Given the description of an element on the screen output the (x, y) to click on. 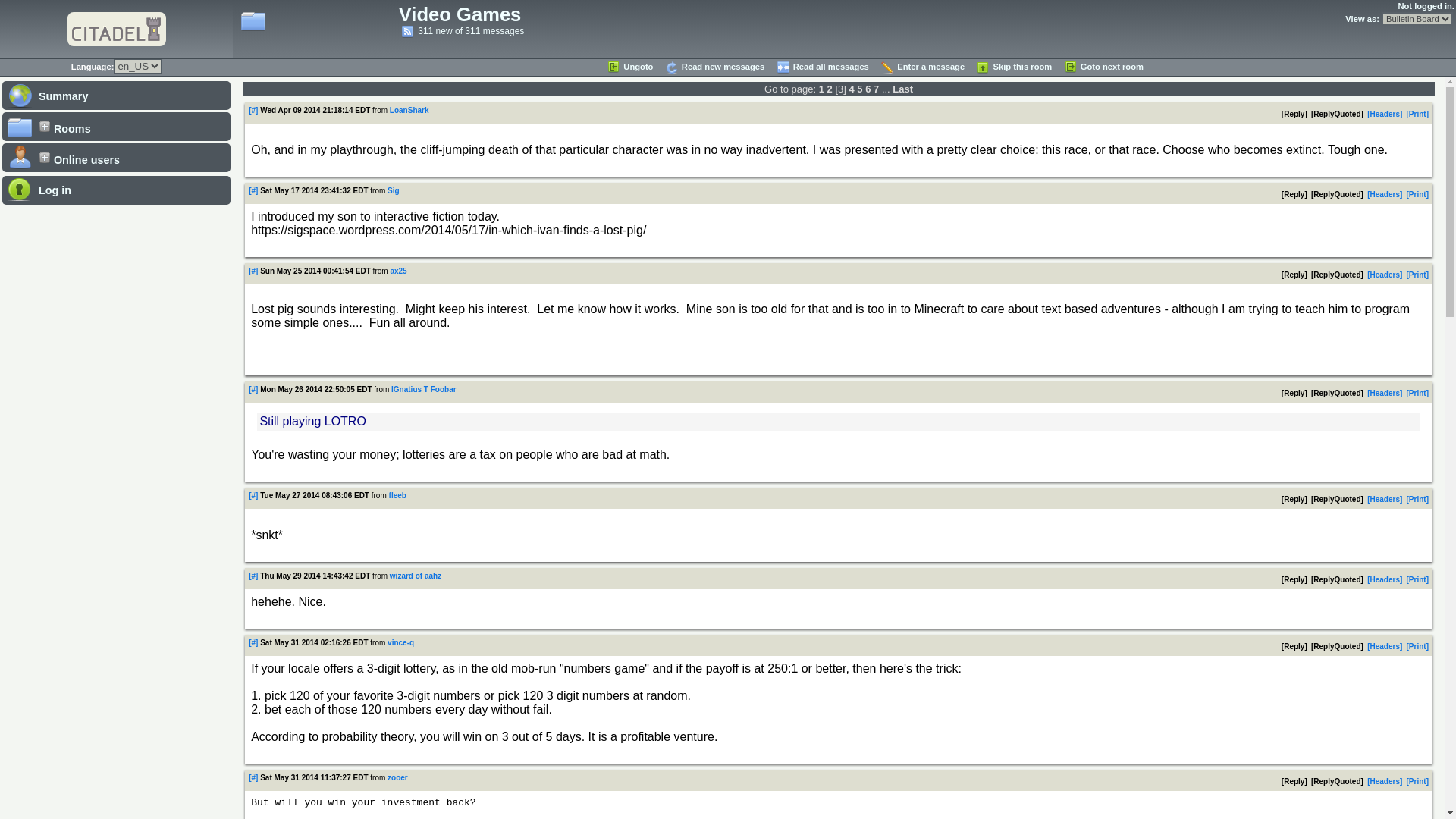
See who is online right now (116, 157)
Read new messages (714, 67)
Goto next room (1102, 67)
Online users (116, 157)
Last (902, 89)
LoanShark (409, 110)
Enter a message (922, 67)
Log in (116, 189)
Video Games (459, 13)
Ungoto (630, 67)
Sig (392, 190)
List all your accessible rooms (116, 126)
Skip this room (1013, 67)
Your summary page (116, 94)
